Given the description of an element on the screen output the (x, y) to click on. 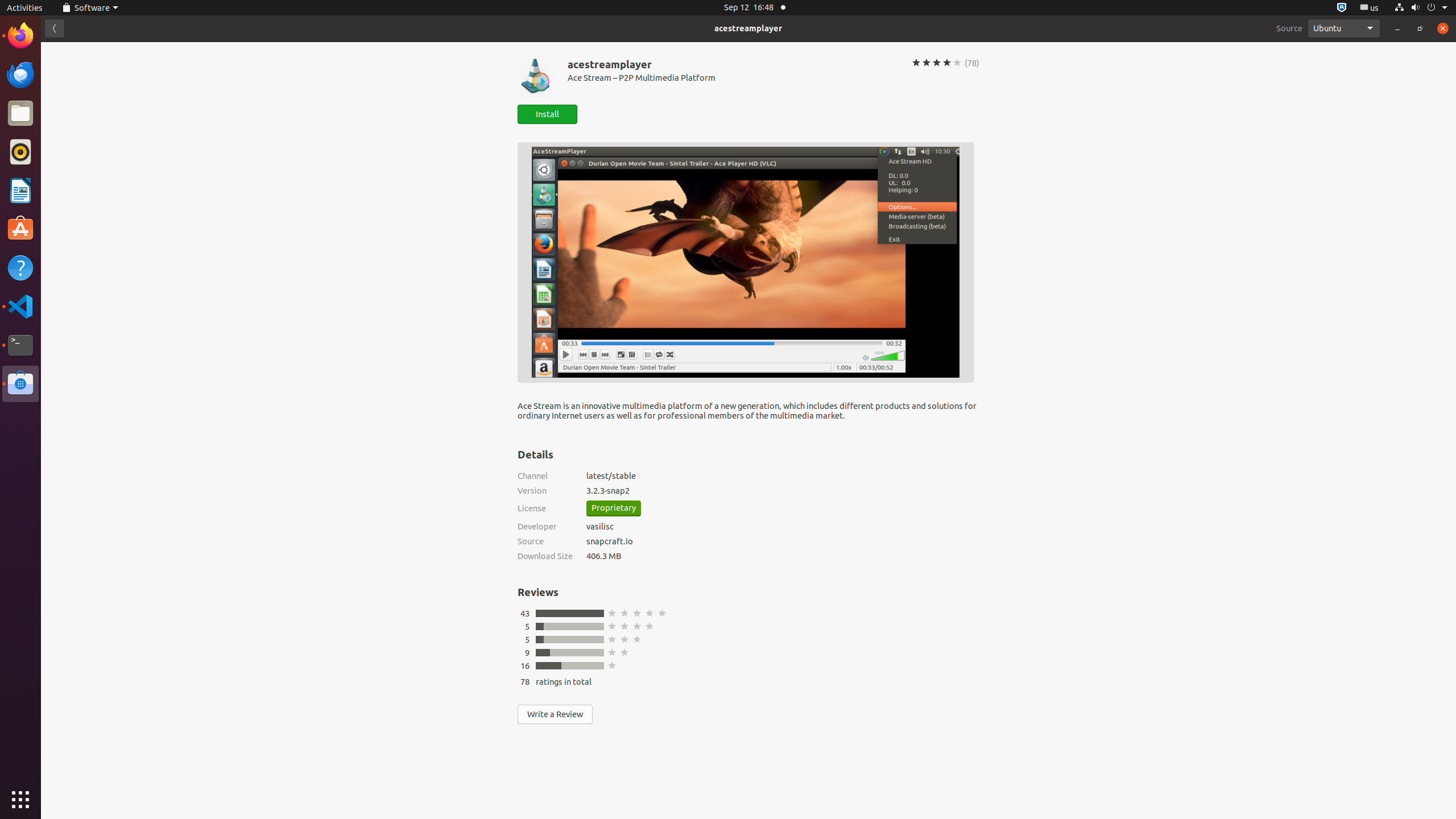
Close Element type: push-button (1442, 27)
Developer Element type: label (544, 526)
Channel Element type: label (544, 475)
acestreamplayer Element type: label (747, 27)
